Given the description of an element on the screen output the (x, y) to click on. 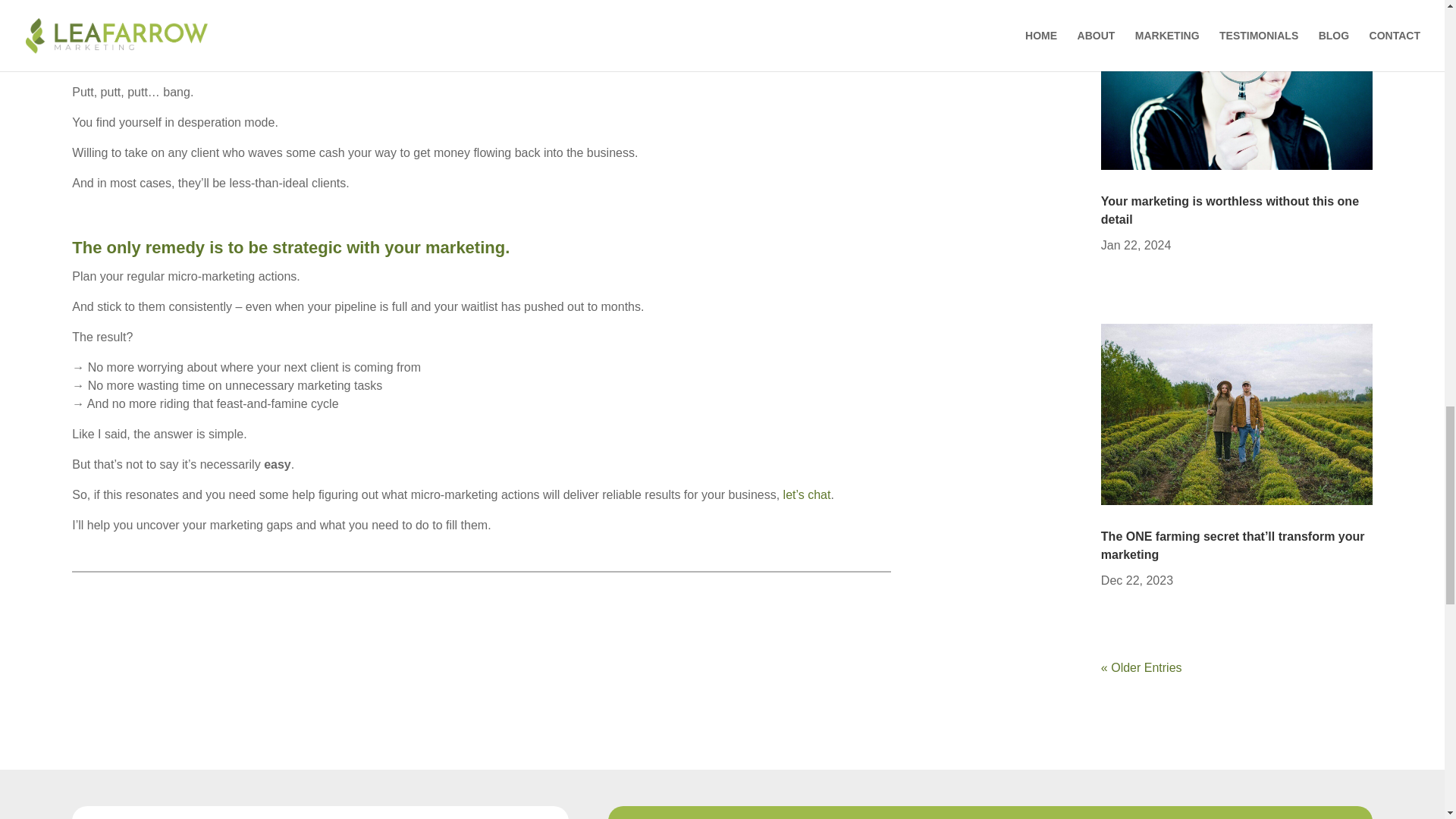
Your marketing is worthless without this one detail (1229, 210)
